Given the description of an element on the screen output the (x, y) to click on. 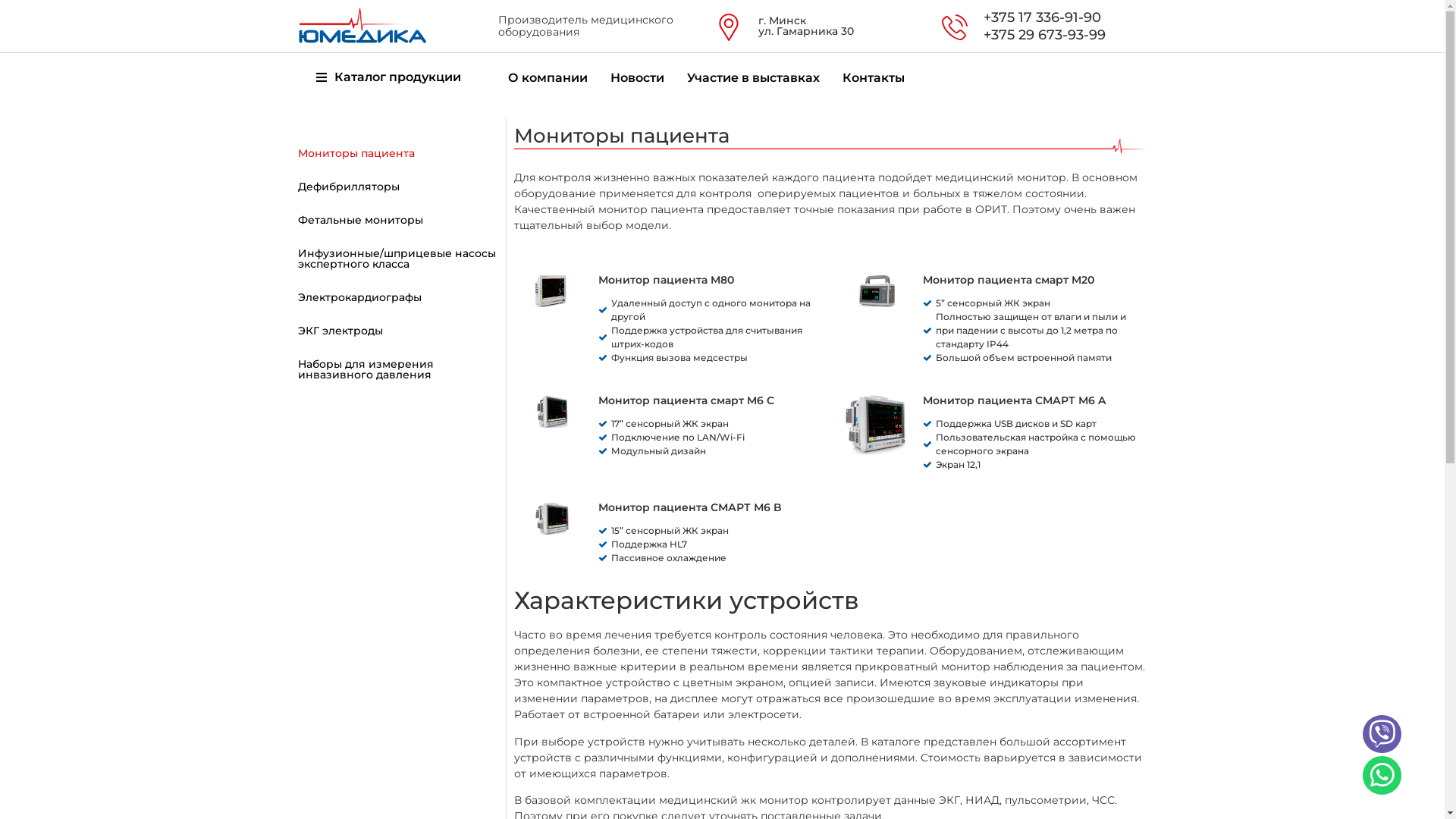
+375 17 336-91-90 Element type: text (1042, 17)
+375 29 673-93-99 Element type: text (1044, 34)
